Given the description of an element on the screen output the (x, y) to click on. 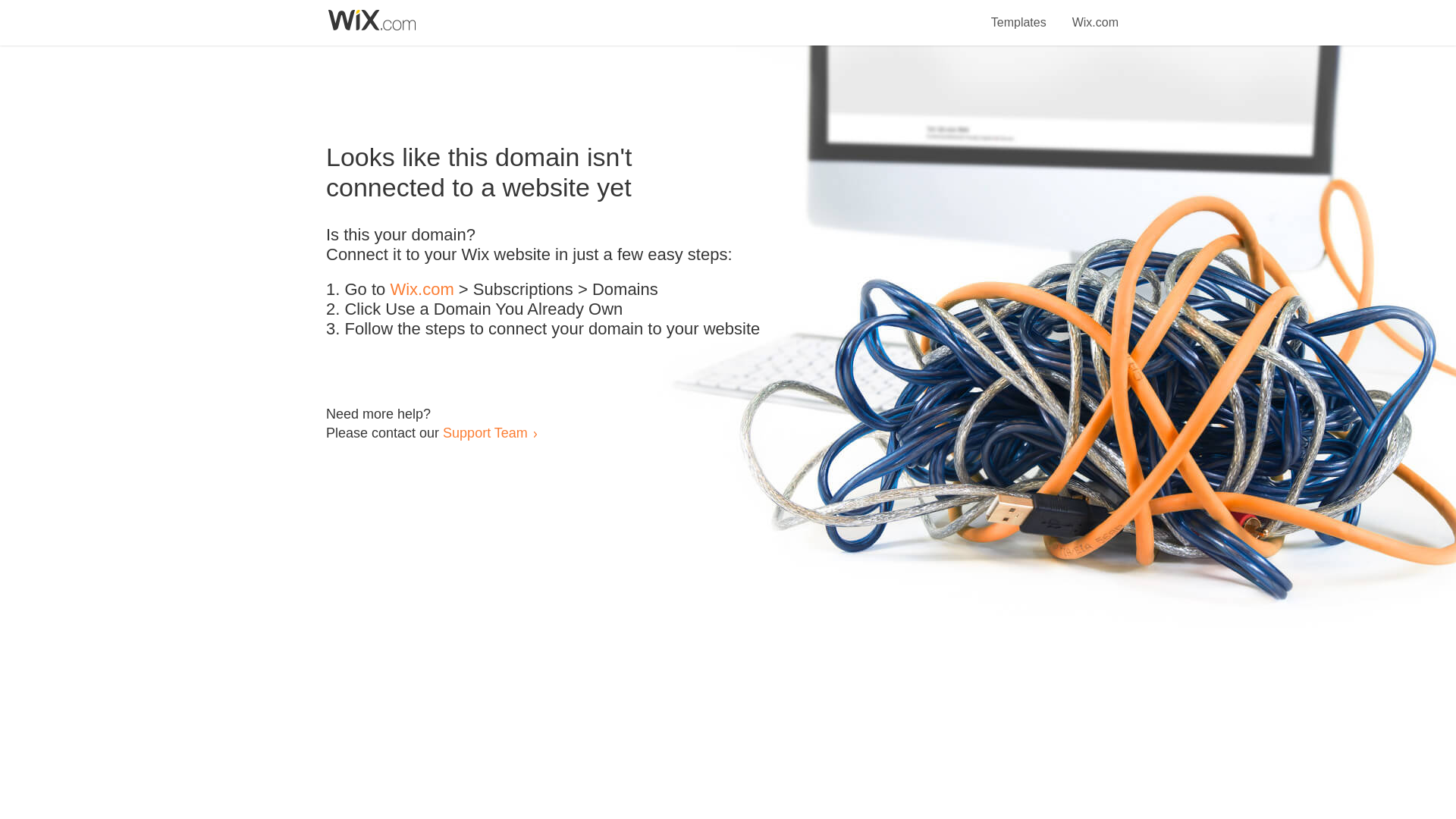
Wix.com (1095, 14)
Templates (1018, 14)
Support Team (484, 432)
Wix.com (421, 289)
